Given the description of an element on the screen output the (x, y) to click on. 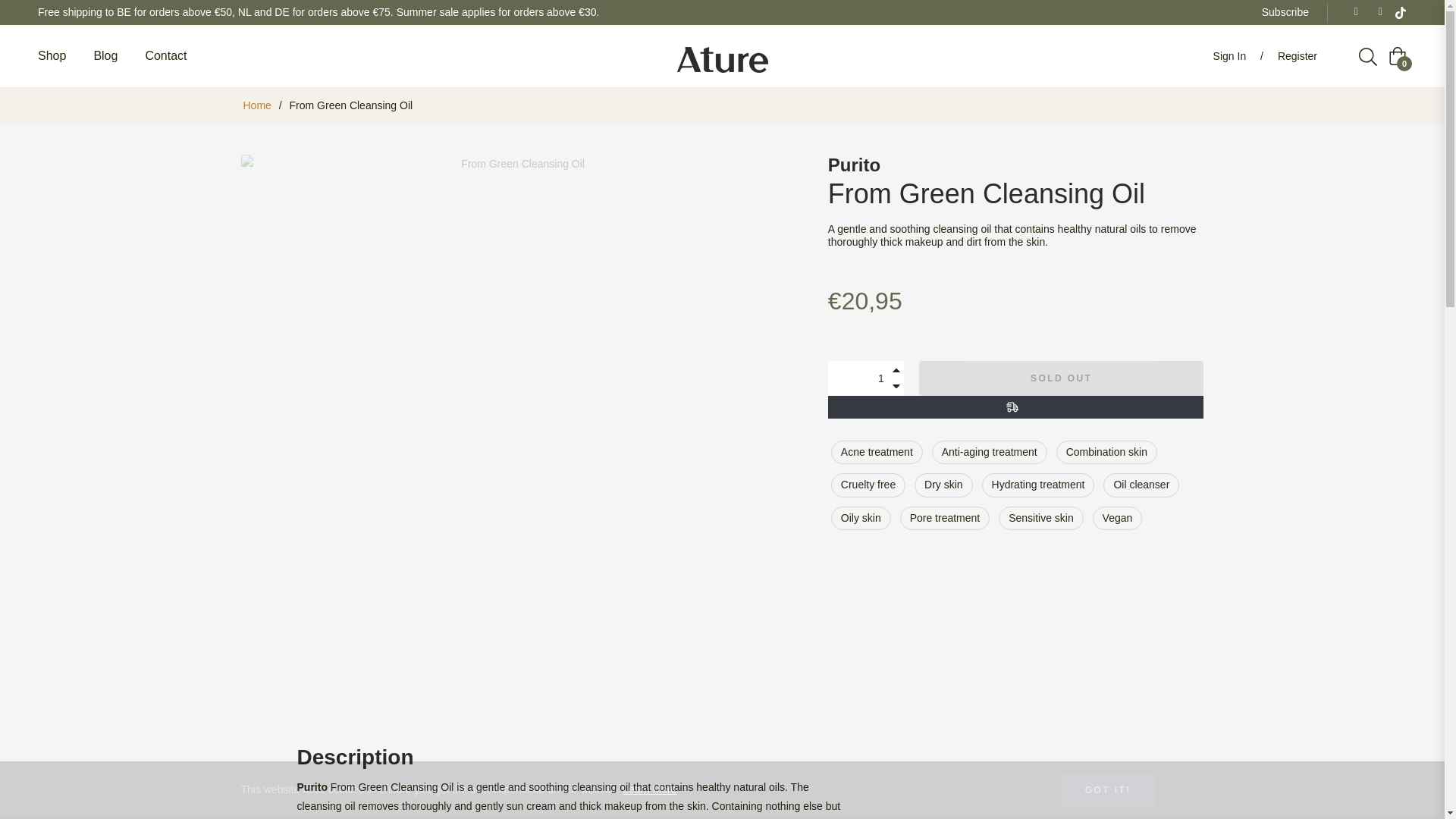
Ature on Instagram (1375, 11)
Subscribe (1285, 11)
Ature on Tiktok (1400, 11)
Ature on Facebook (1351, 11)
Shopping Cart (1397, 55)
1 (866, 378)
Home (257, 105)
Contact (165, 56)
